Given the description of an element on the screen output the (x, y) to click on. 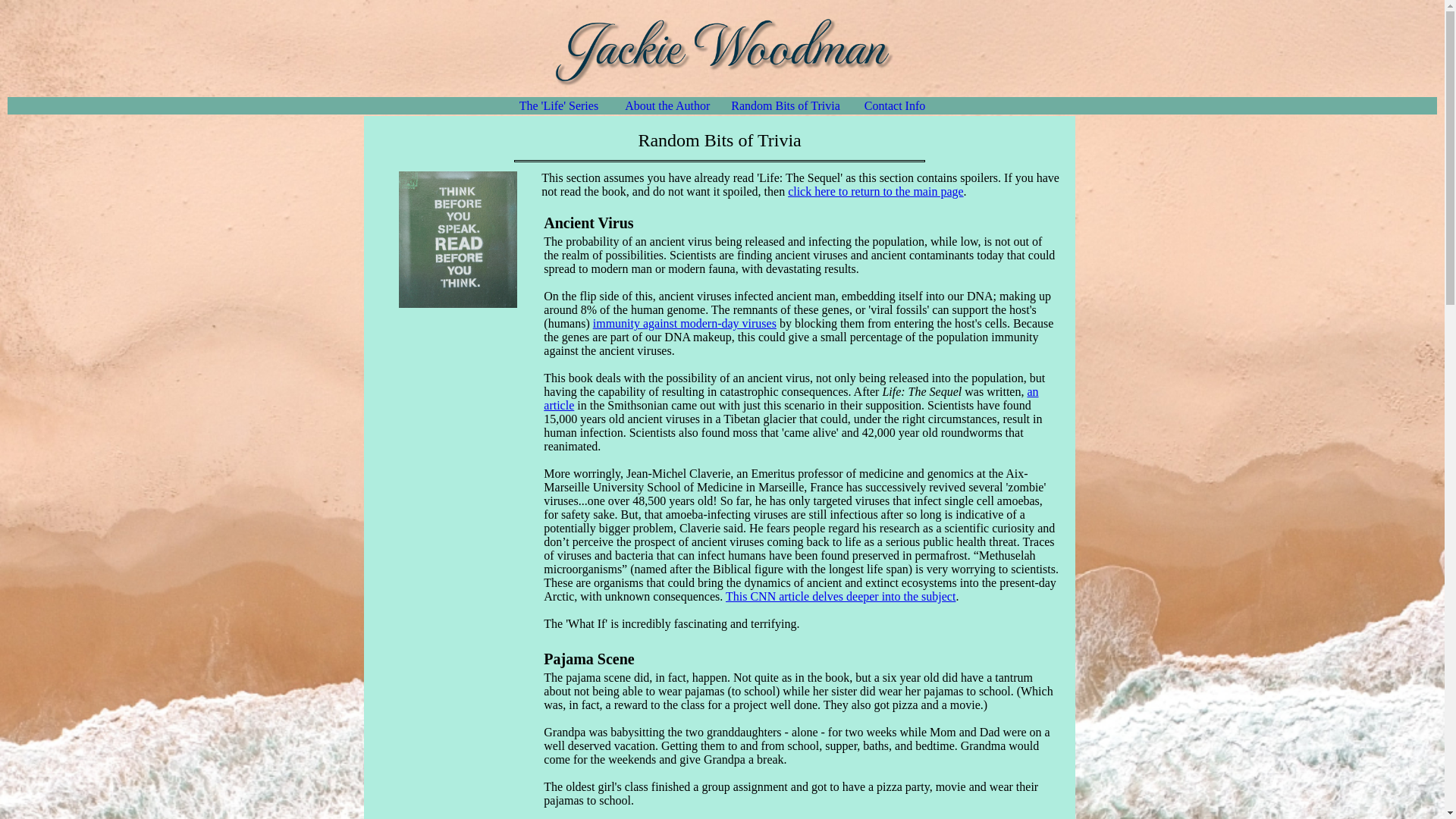
Jackie Woodman Header (722, 49)
Contact Info (894, 105)
The 'Life' Series (558, 105)
click here to return to the main page (874, 191)
an article (790, 397)
About the Author (667, 105)
This CNN article delves deeper into the subject (840, 595)
Random Bits of Trivia (785, 105)
immunity against modern-day viruses (684, 323)
